Given the description of an element on the screen output the (x, y) to click on. 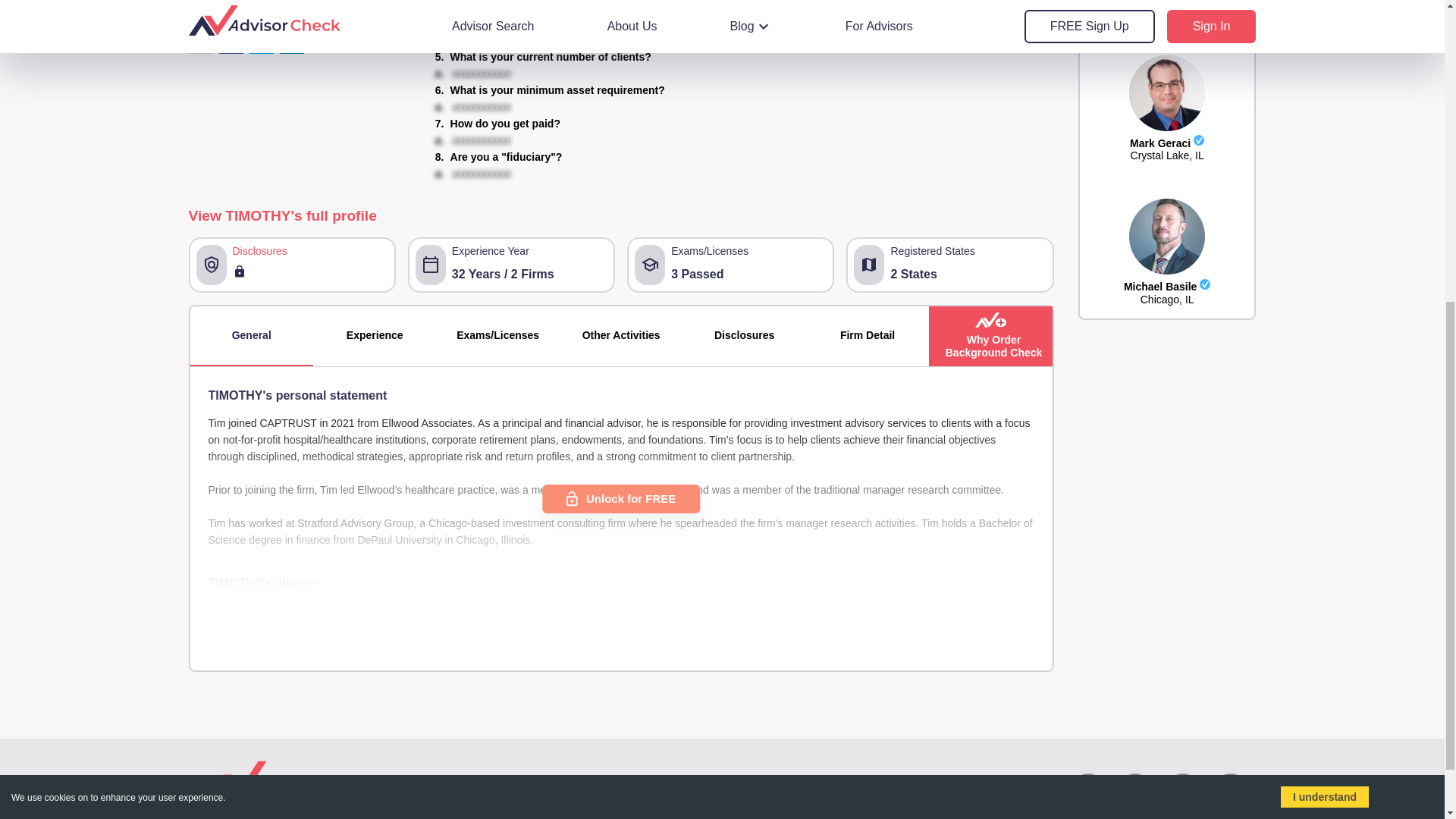
Blog (617, 788)
Disclosures (989, 336)
For Advisors (743, 336)
Help (676, 788)
Advertisement (734, 788)
Advisor Search (1166, 332)
Experience (490, 788)
General (374, 336)
Advertisement (251, 336)
About Us (1166, 129)
Firm Detail (566, 788)
Other Activities (867, 336)
Unlock for FREE (620, 336)
